Given the description of an element on the screen output the (x, y) to click on. 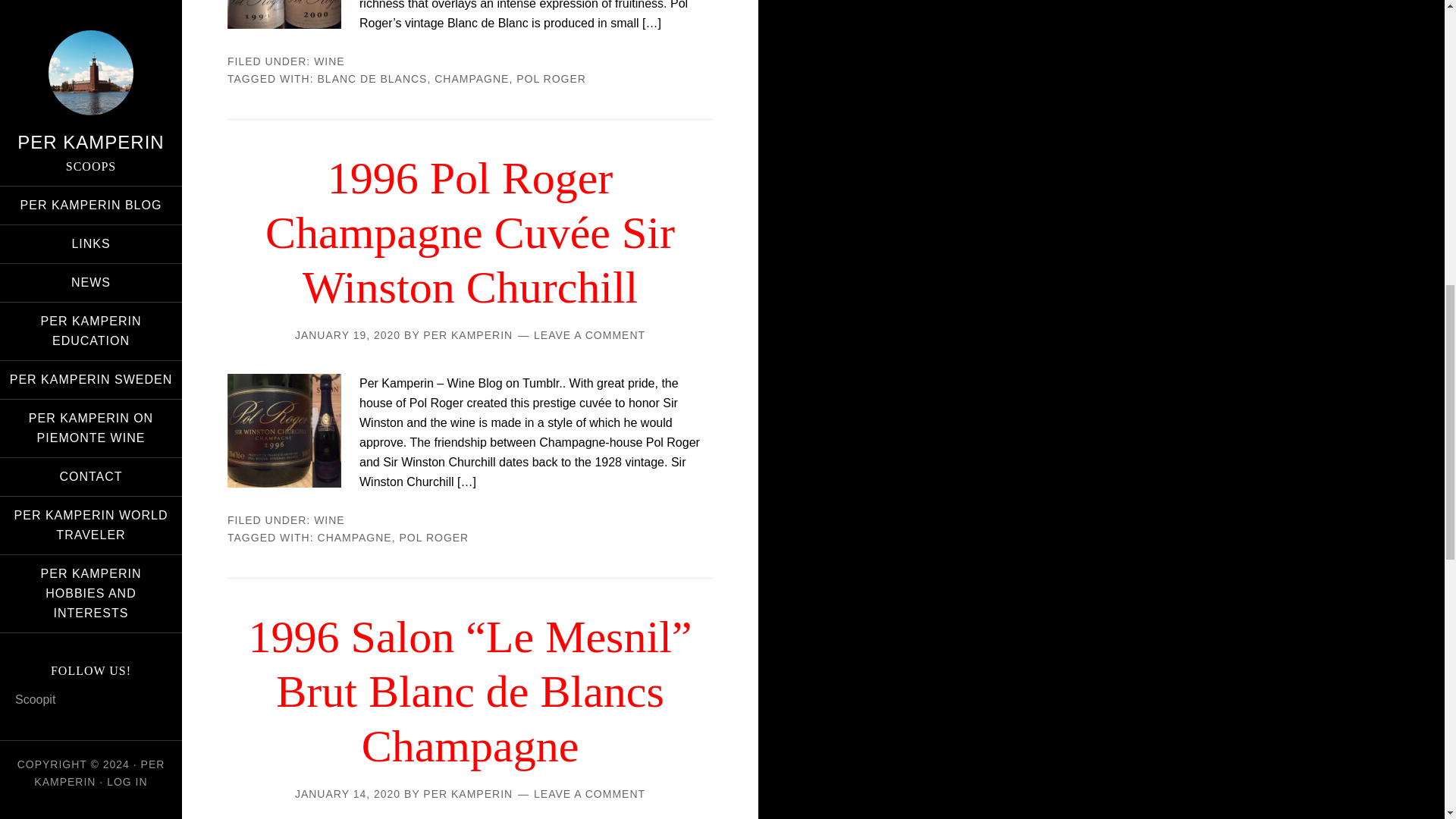
LEAVE A COMMENT (589, 335)
POL ROGER (551, 78)
LEAVE A COMMENT (589, 793)
CHAMPAGNE (470, 78)
WINE (329, 520)
WINE (329, 61)
PER KAMPERIN (467, 335)
POL ROGER (433, 537)
PER KAMPERIN (467, 793)
BLANC DE BLANCS (372, 78)
CHAMPAGNE (354, 537)
